Given the description of an element on the screen output the (x, y) to click on. 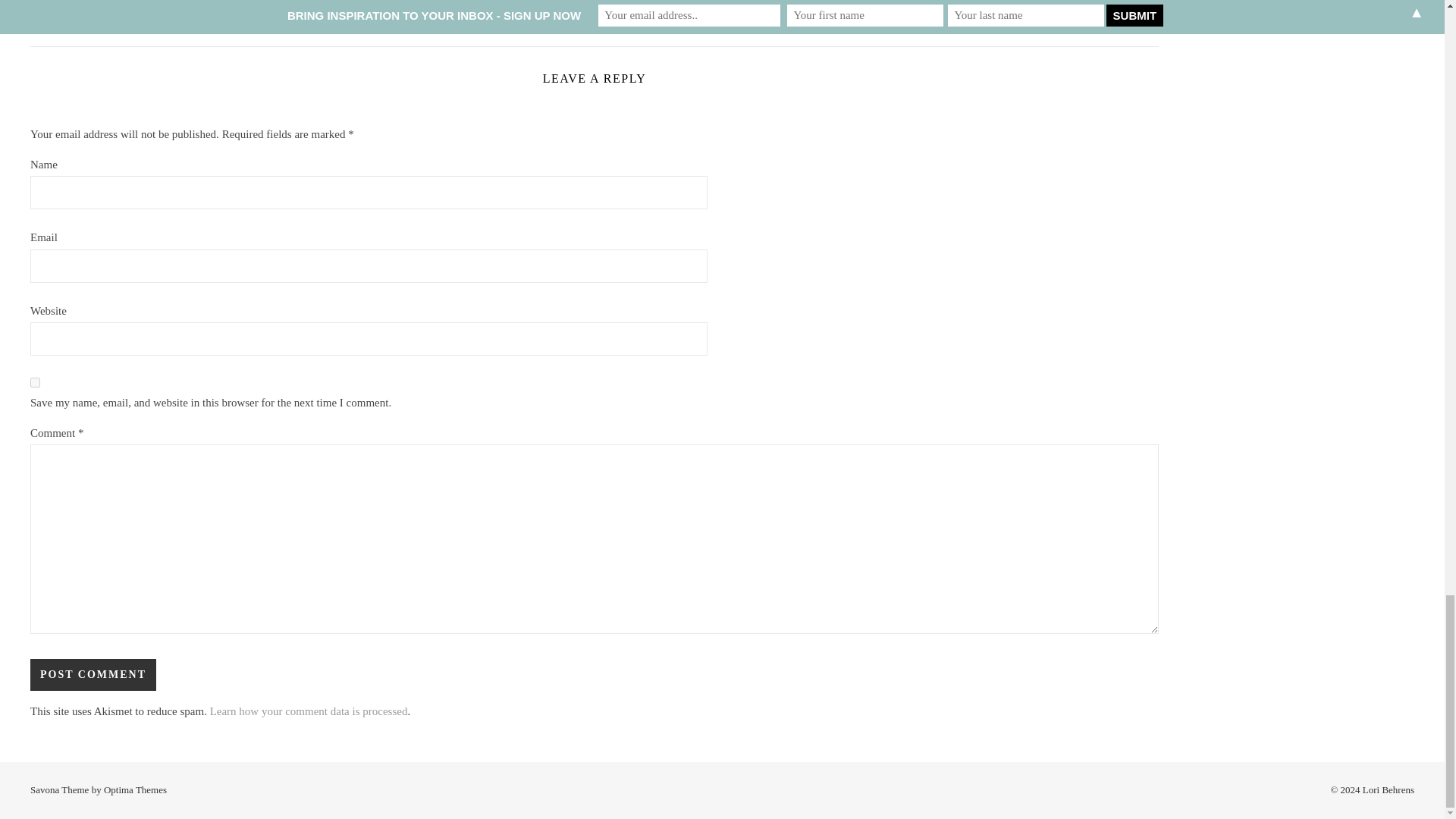
yes (35, 382)
Post Comment (92, 675)
No Comments (1126, 19)
Optima Themes (135, 789)
Learn how your comment data is processed (308, 711)
Post Comment (92, 675)
